Given the description of an element on the screen output the (x, y) to click on. 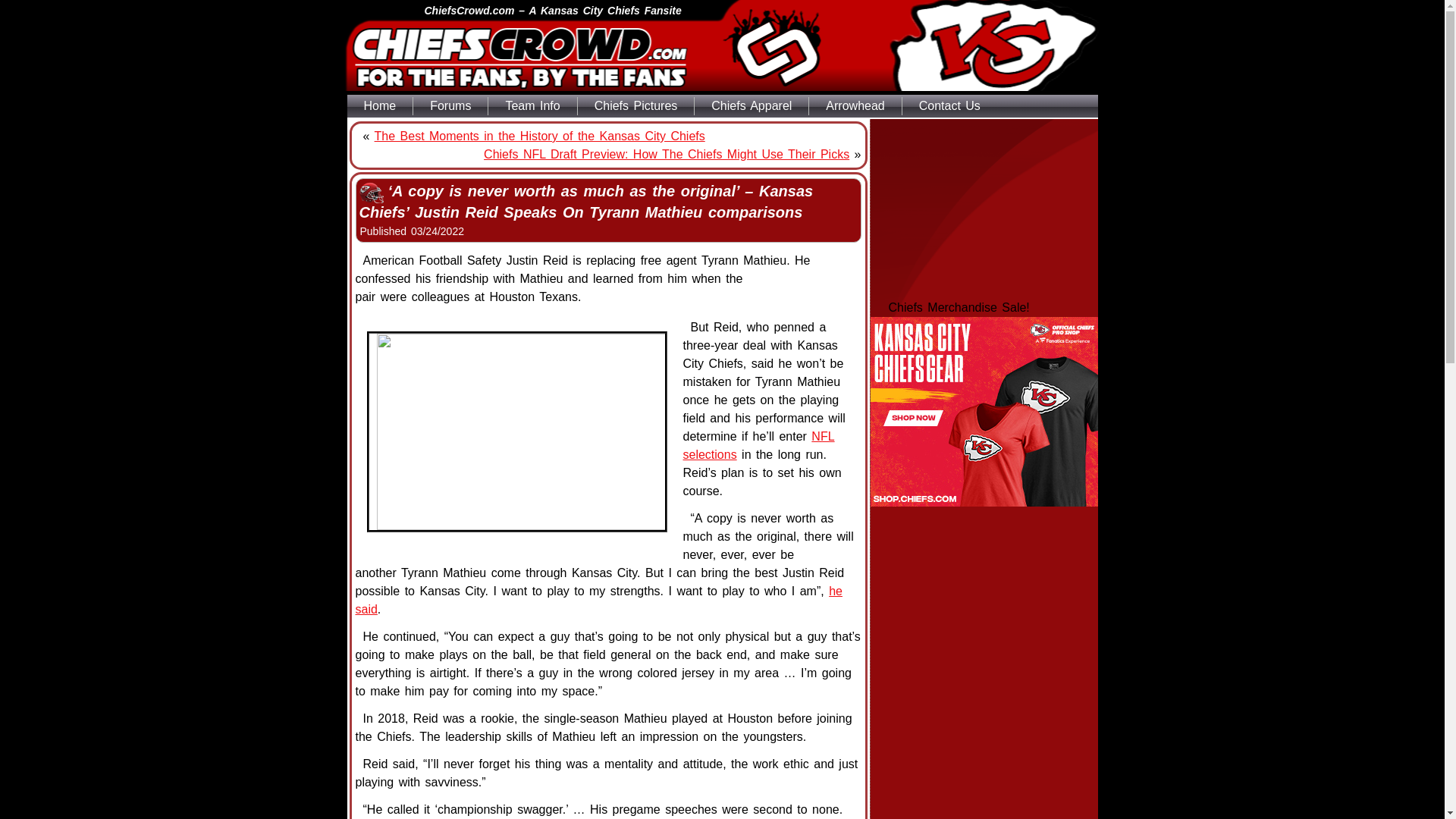
Arrowhead (855, 106)
The Best Moments in the History of the Kansas City Chiefs (539, 135)
Arrowhead (855, 106)
Team Info (531, 106)
Contact Us (949, 106)
The Best Moments in the History of the Kansas City Chiefs (539, 135)
5:30 pm (437, 231)
Home (380, 106)
Chiefs Apparel (751, 106)
Contact Us (949, 106)
NFL selections (758, 445)
he said (598, 599)
Team Info (531, 106)
